Given the description of an element on the screen output the (x, y) to click on. 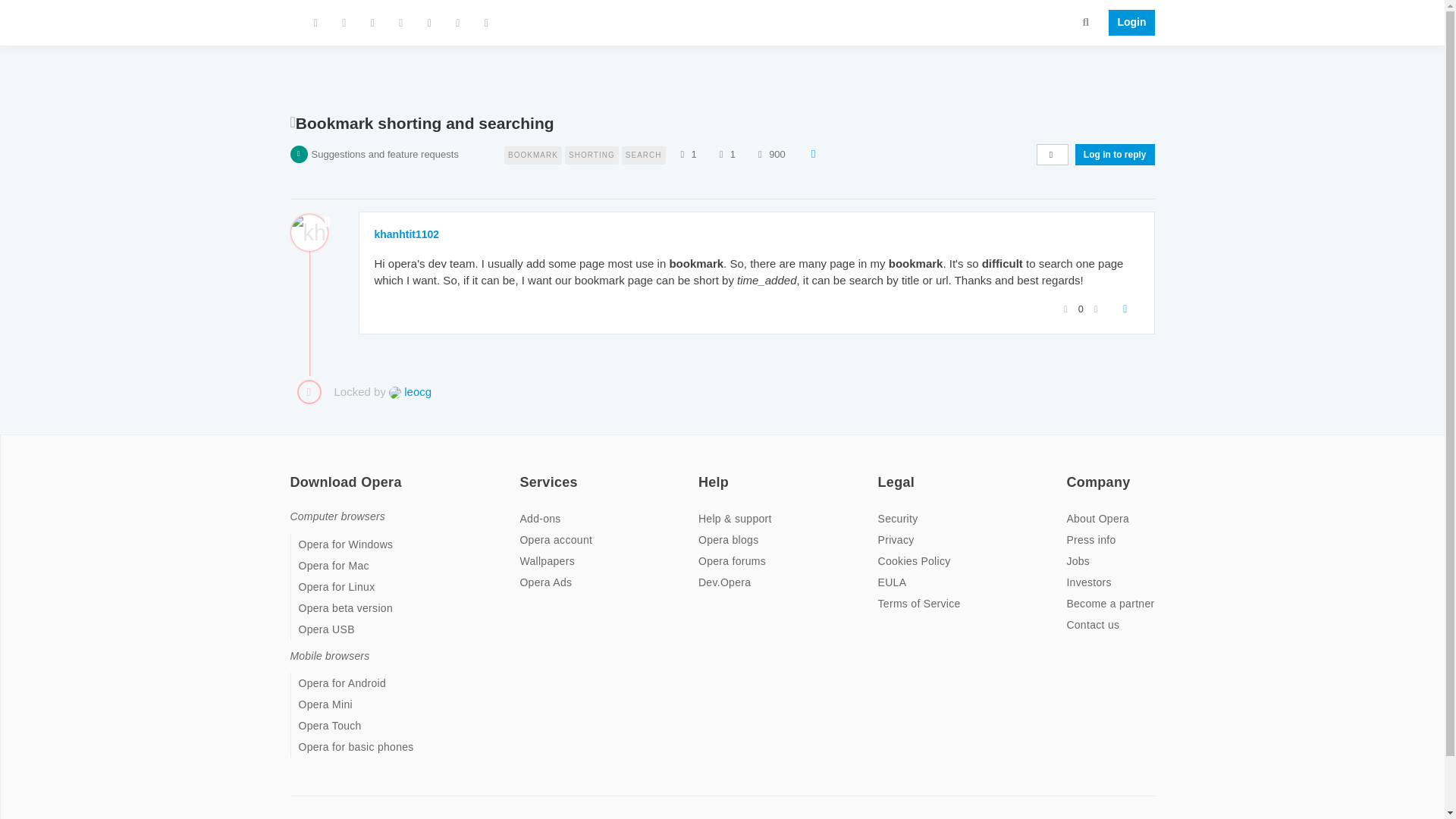
Views (759, 153)
on (1070, 471)
Log in to reply (1114, 154)
on (702, 471)
on (523, 471)
on (293, 471)
BOOKMARK (533, 153)
Login (1127, 22)
SHORTING (592, 153)
Posts (720, 153)
Search (1085, 21)
Suggestions and feature requests (384, 153)
khanhtit1102 (406, 234)
Posters (682, 153)
SEARCH (643, 153)
